Given the description of an element on the screen output the (x, y) to click on. 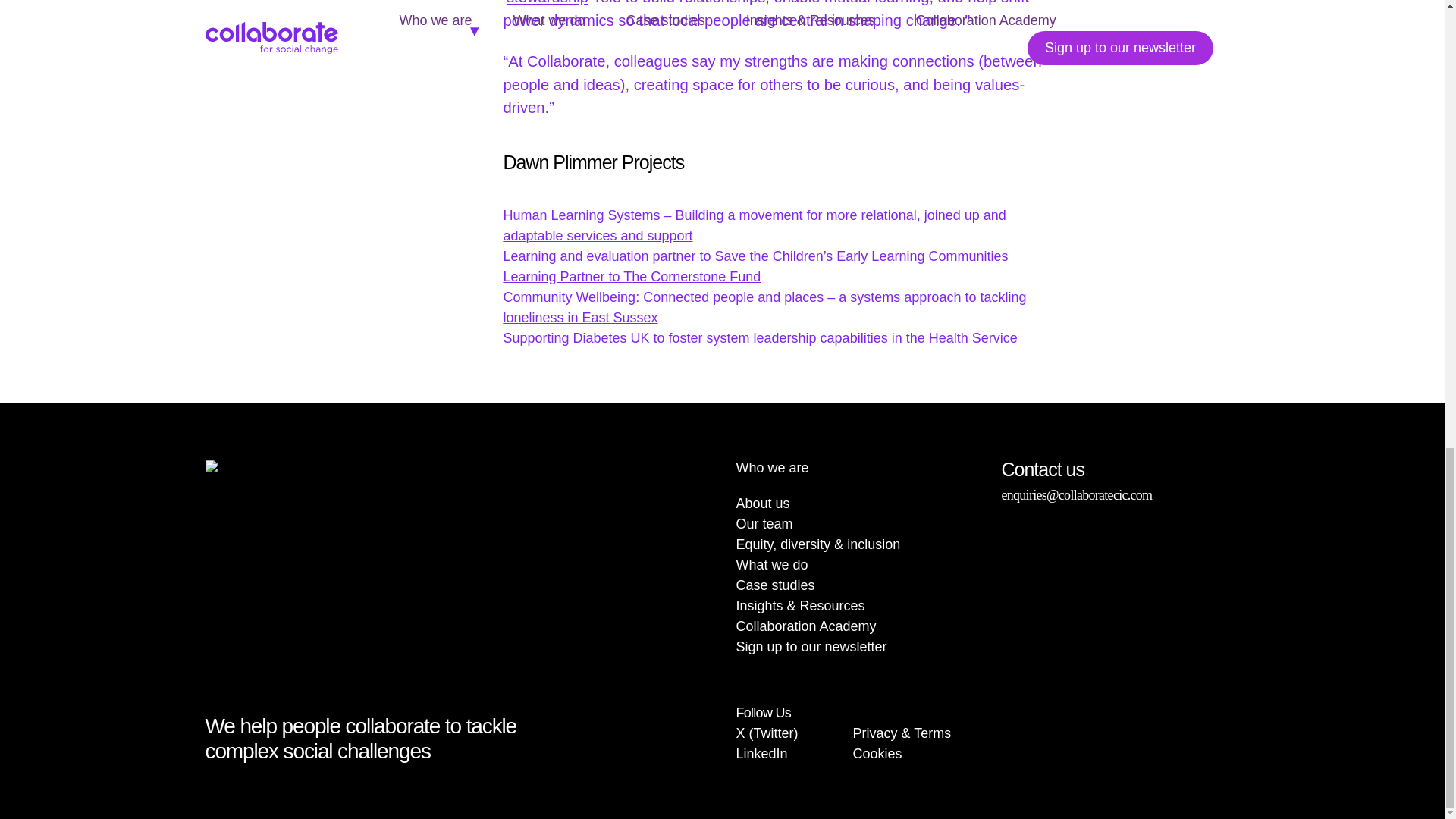
Sign up to our newsletter (810, 646)
Learning Partner to The Cornerstone Fund (631, 276)
stewardship (547, 2)
Cookies (877, 753)
Our team (763, 523)
What we do (771, 564)
About us (762, 503)
LinkedIn (761, 753)
Who we are (771, 467)
Collaboration Academy (805, 626)
